Given the description of an element on the screen output the (x, y) to click on. 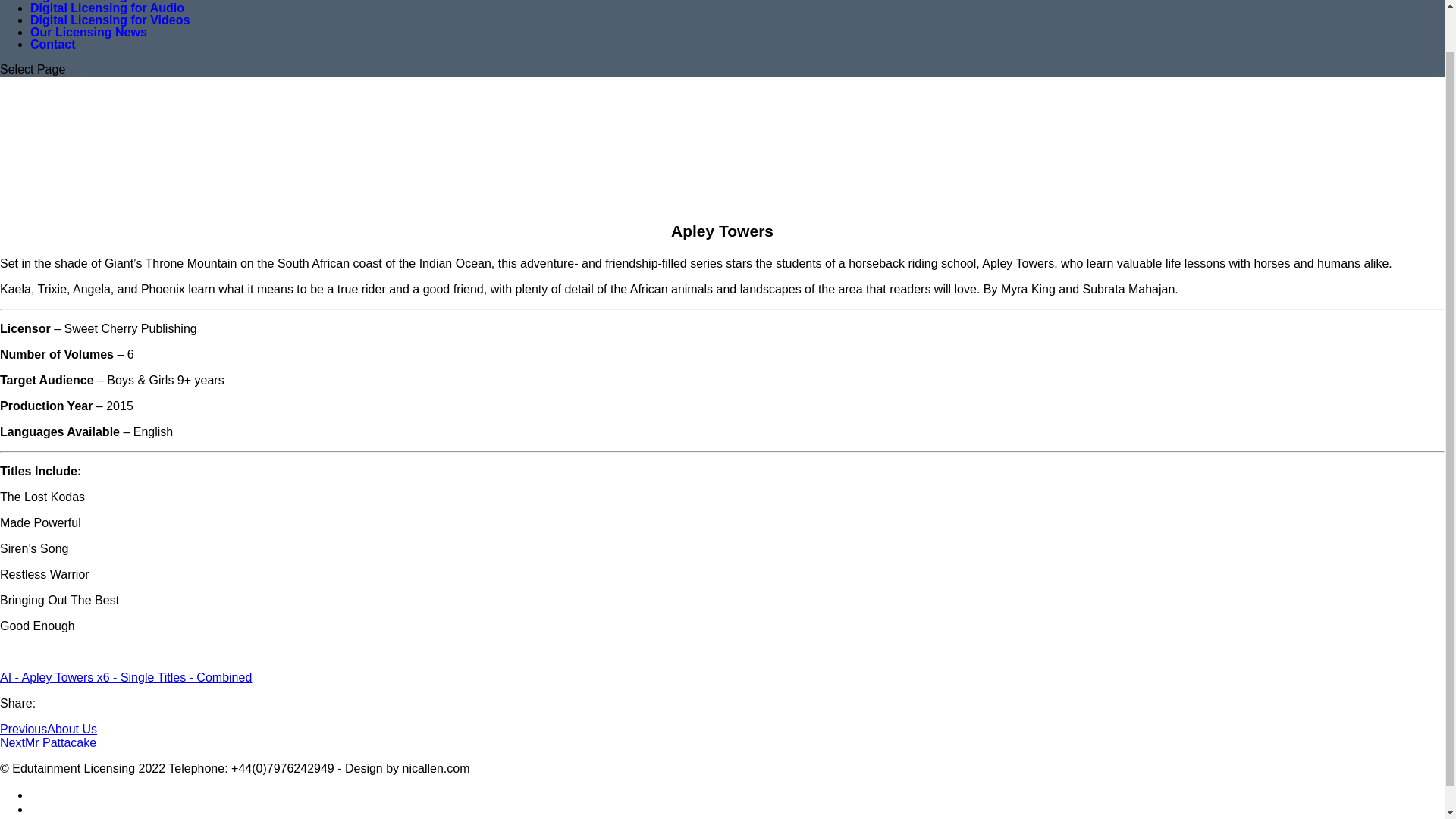
Brand Licensing (77, 1)
Contact (52, 44)
PreviousAbout Us (48, 728)
Digital Licensing for eBooks (111, 13)
NextMr Pattacake (48, 742)
Publishing (61, 7)
Our Licensing News (88, 32)
Digital Licensing for Videos (109, 25)
AI - Apley Towers x6 - Single Titles - Combined (125, 676)
Digital Licensing for Audio (107, 19)
